Given the description of an element on the screen output the (x, y) to click on. 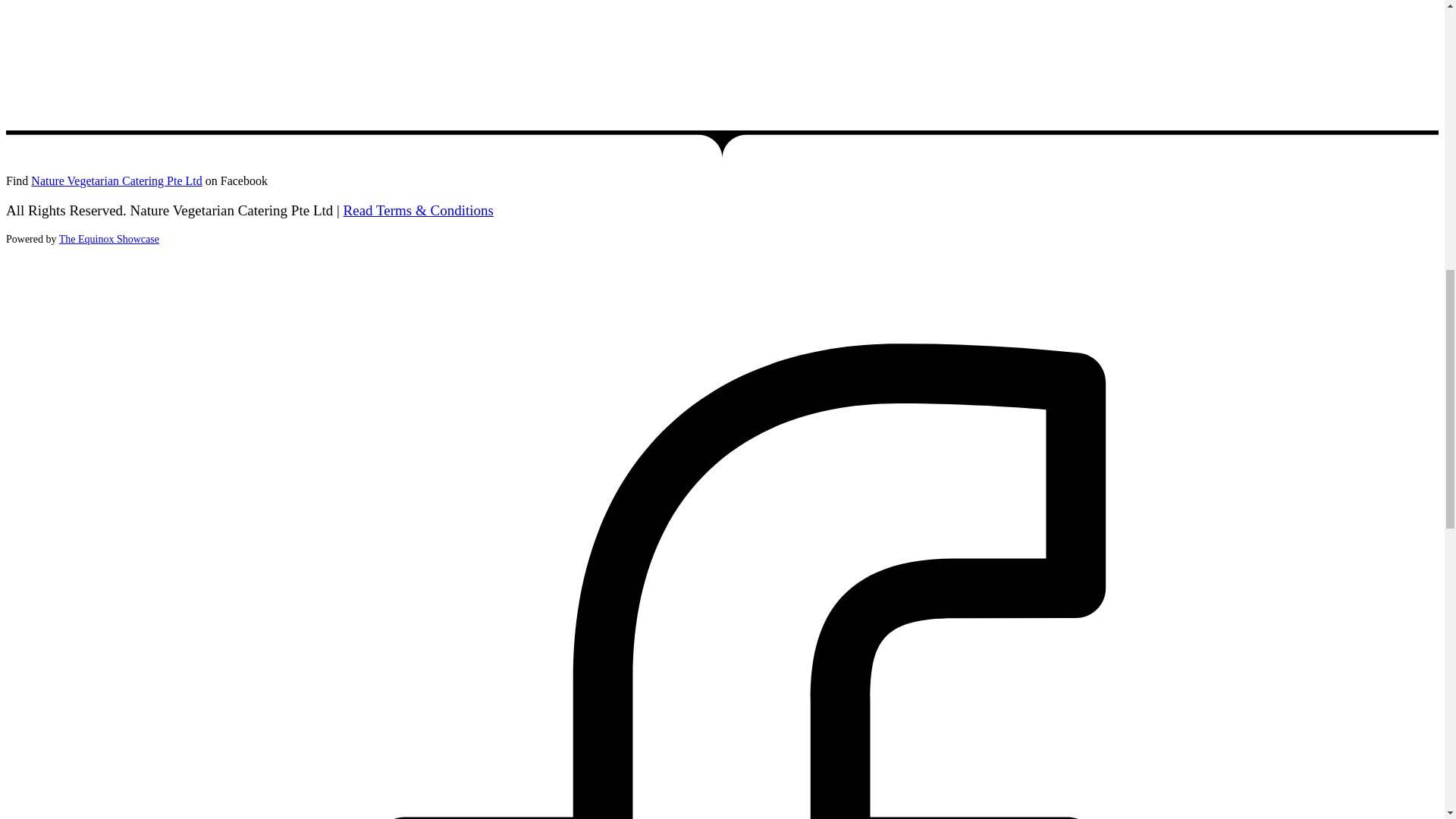
The Equinox Showcase (108, 238)
Nature Vegetarian Catering Pte Ltd (116, 180)
